Given the description of an element on the screen output the (x, y) to click on. 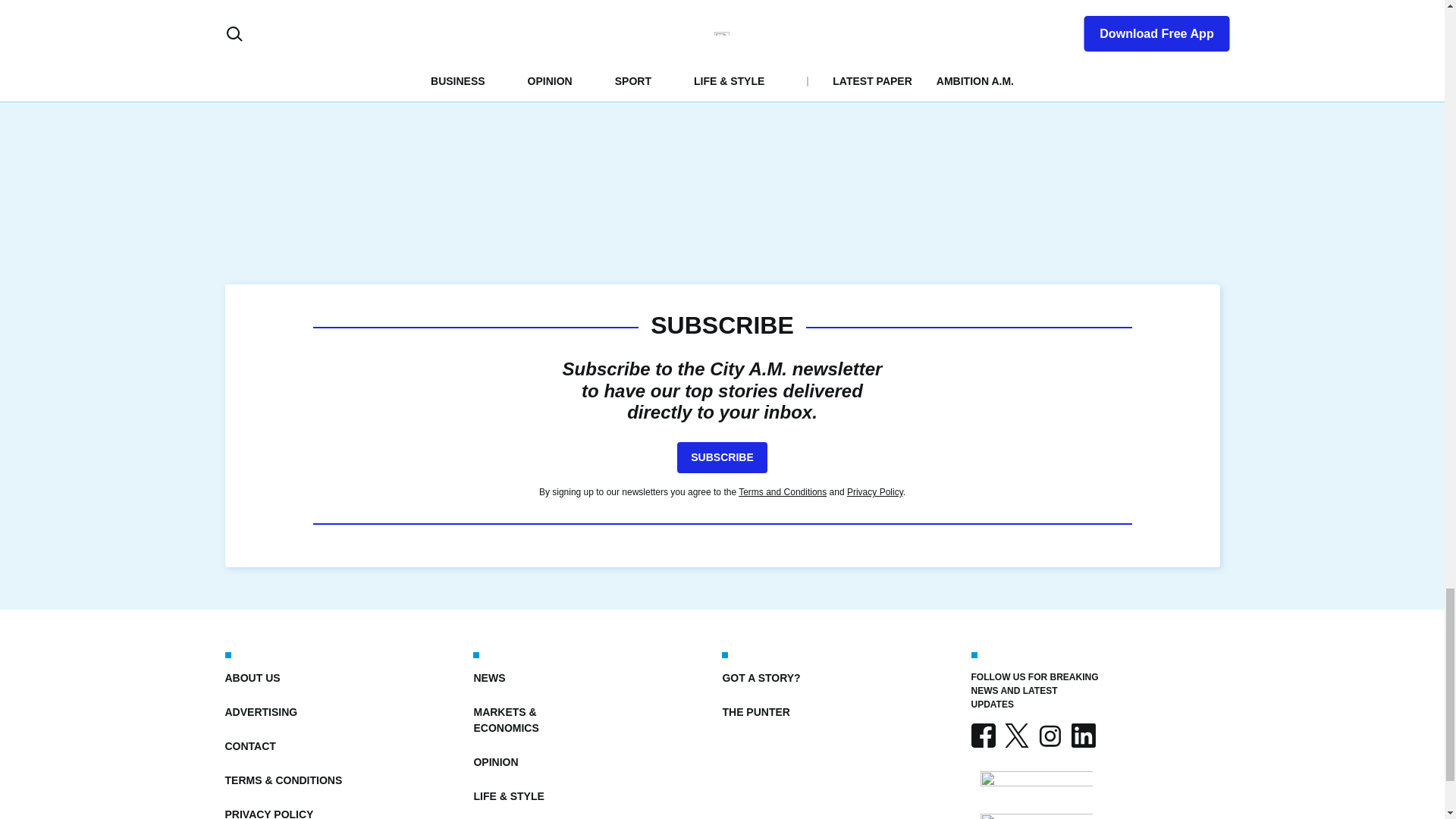
INSTAGRAM (1048, 735)
FACEBOOK (982, 735)
LINKEDIN (1082, 735)
X (1015, 735)
